Given the description of an element on the screen output the (x, y) to click on. 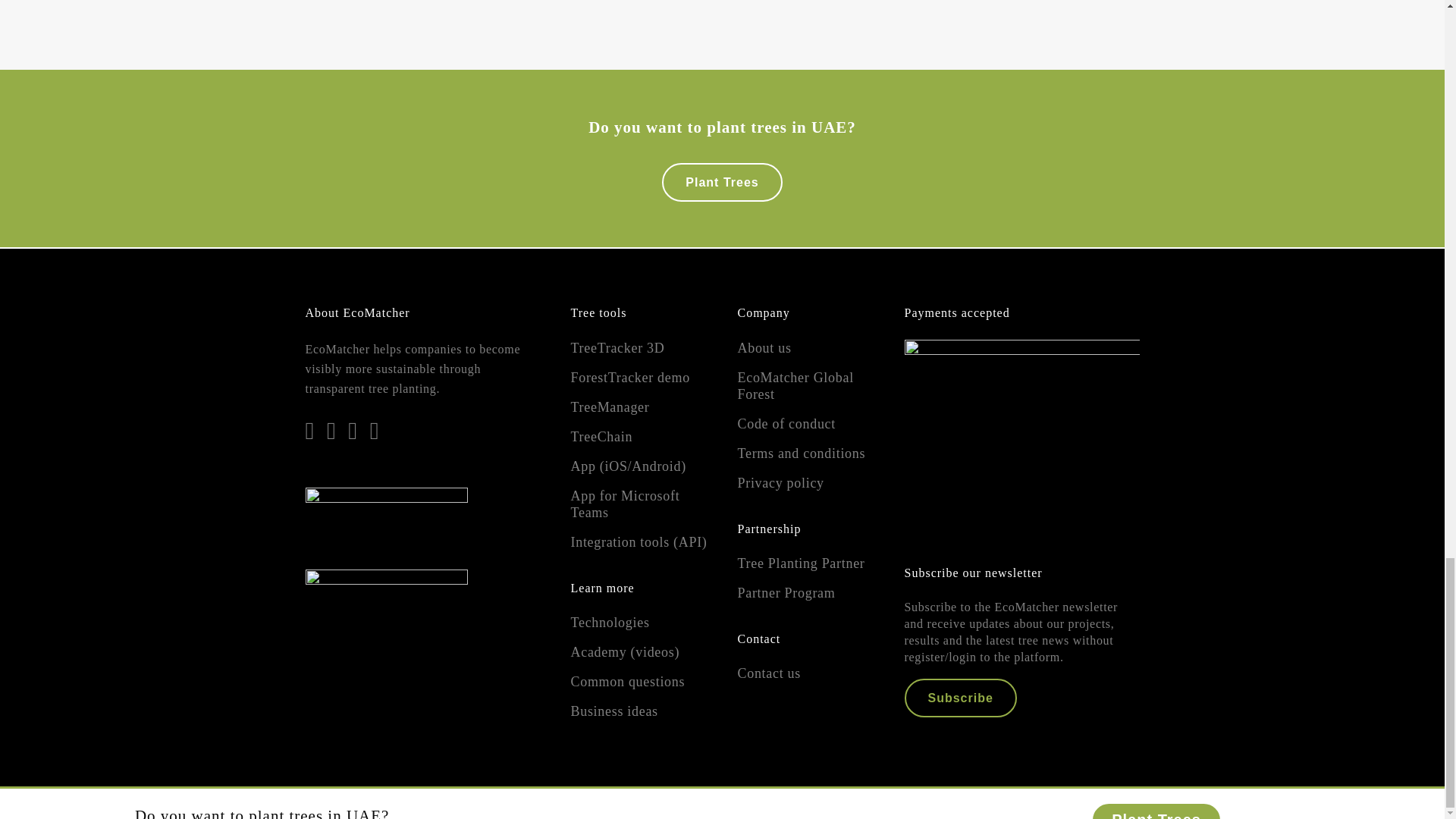
Payments accepted (1021, 432)
